Given the description of an element on the screen output the (x, y) to click on. 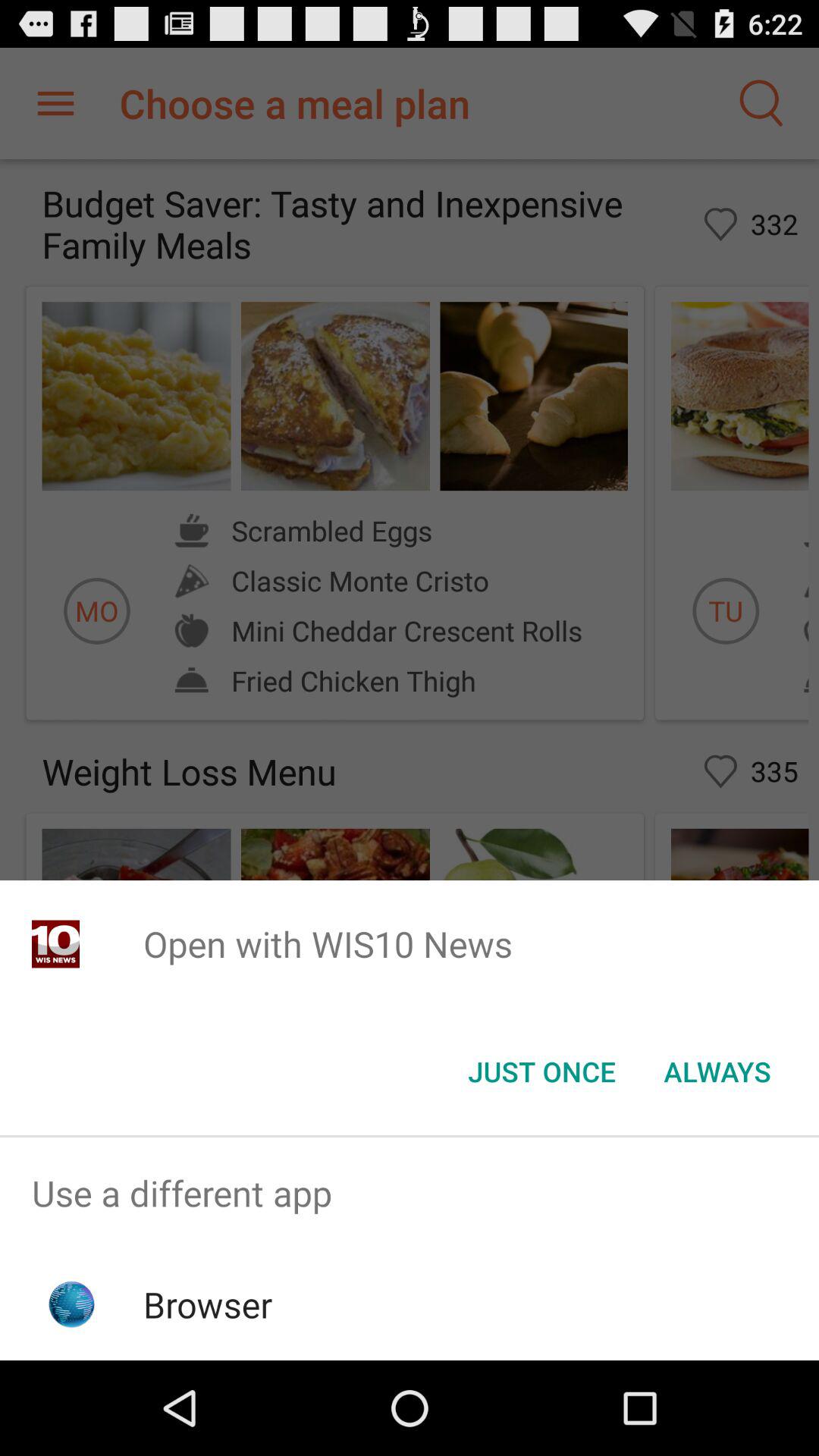
press use a different item (409, 1192)
